Given the description of an element on the screen output the (x, y) to click on. 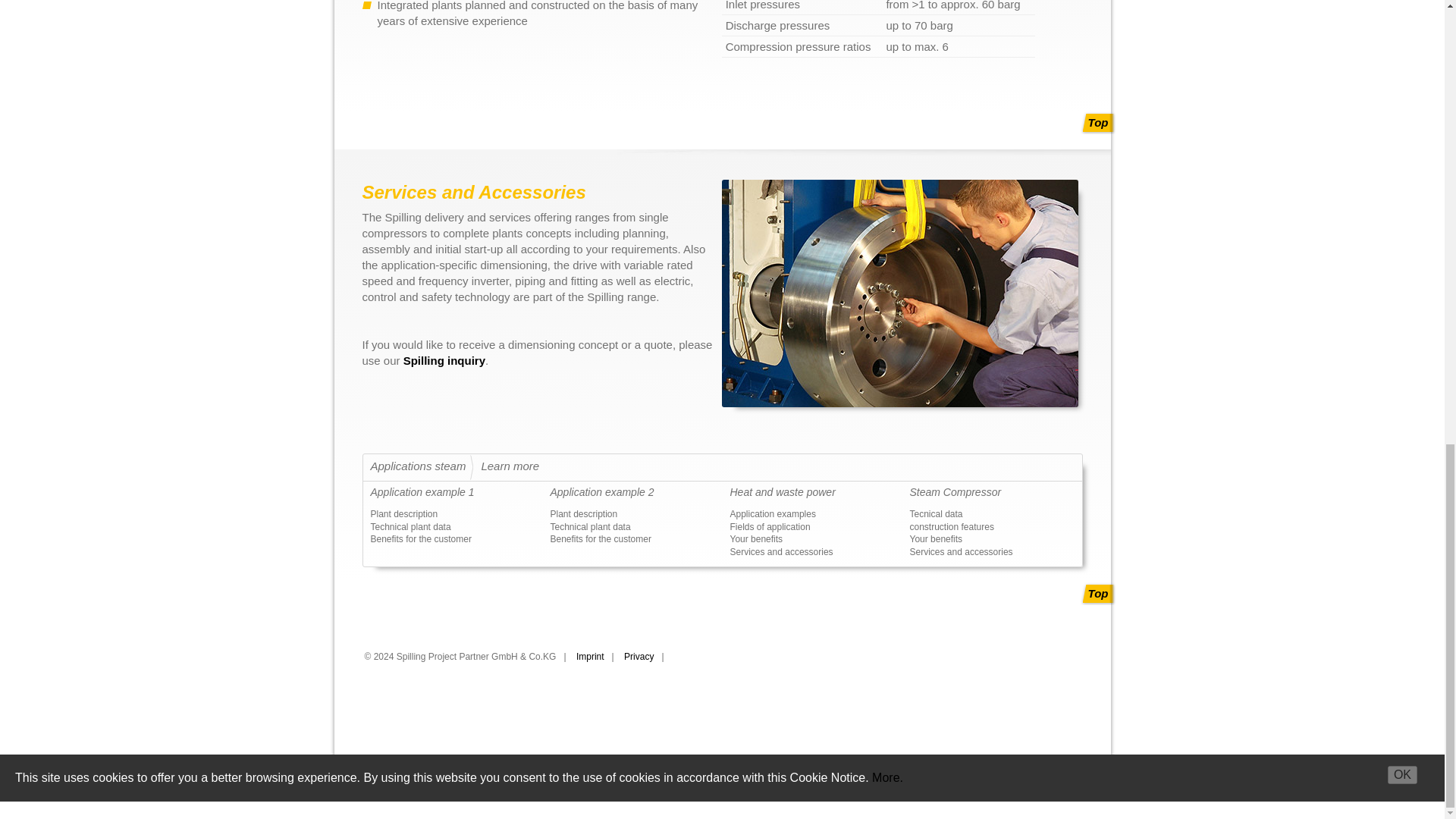
Spilling service and assembly for steam compressor units (900, 293)
Enquiries (443, 359)
Power generation from exhaust heat and waste (781, 491)
